Given the description of an element on the screen output the (x, y) to click on. 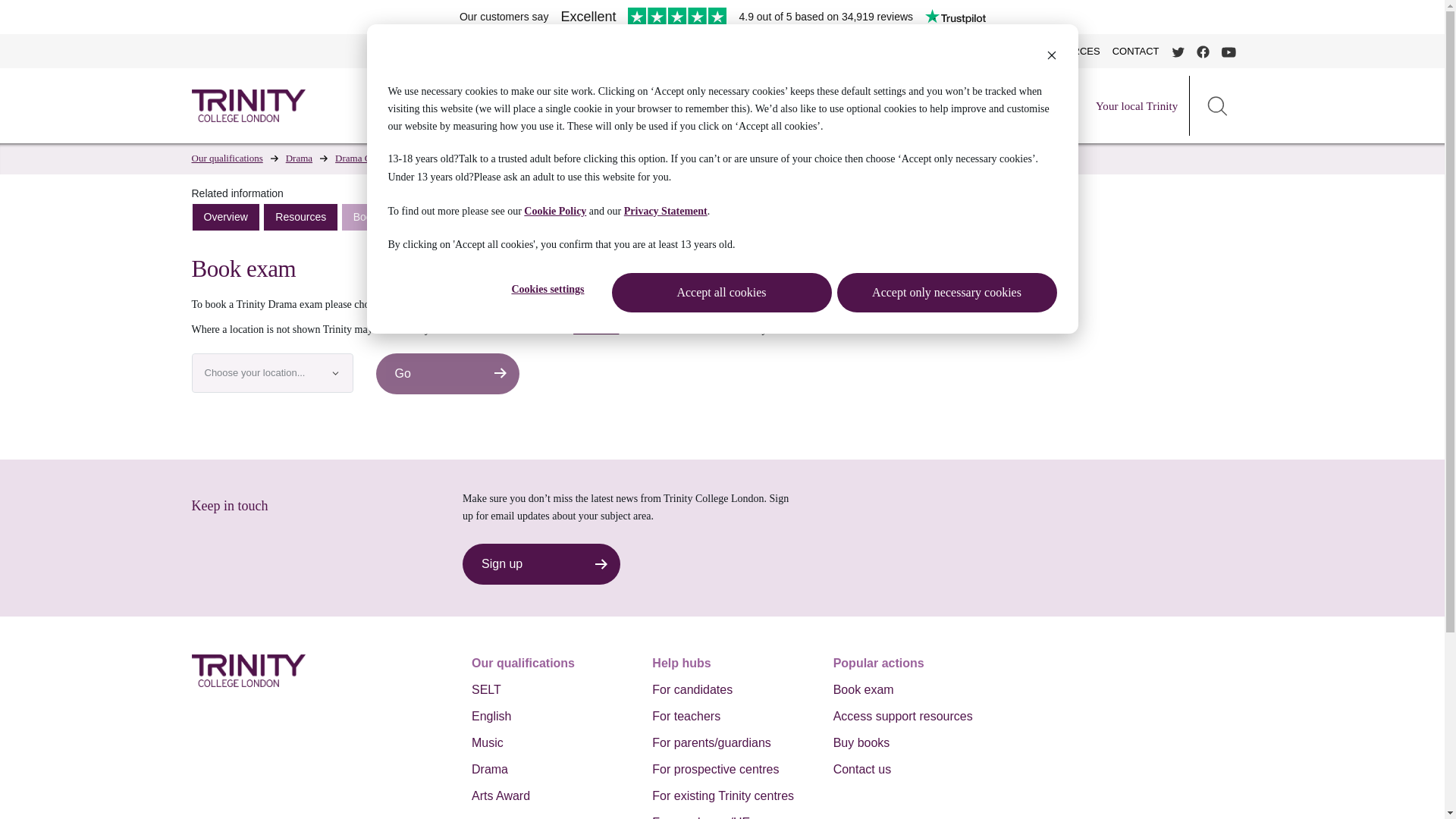
SHOP (960, 50)
About us (828, 106)
Our qualifications (913, 106)
Customer reviews powered by Trustpilot (722, 17)
CONTACT (1136, 50)
SUPPORT RESOURCES (1043, 50)
